Given the description of an element on the screen output the (x, y) to click on. 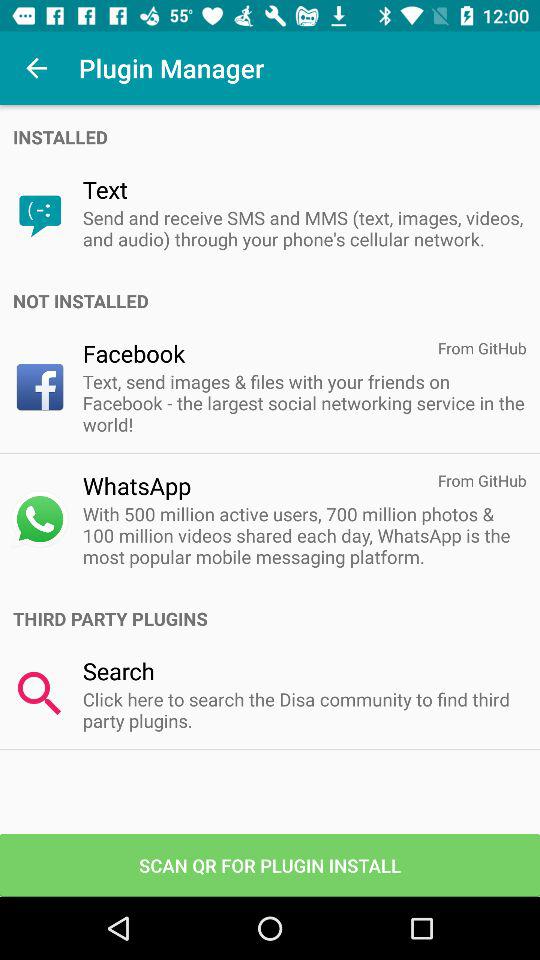
launch item above scan qr for item (304, 709)
